Given the description of an element on the screen output the (x, y) to click on. 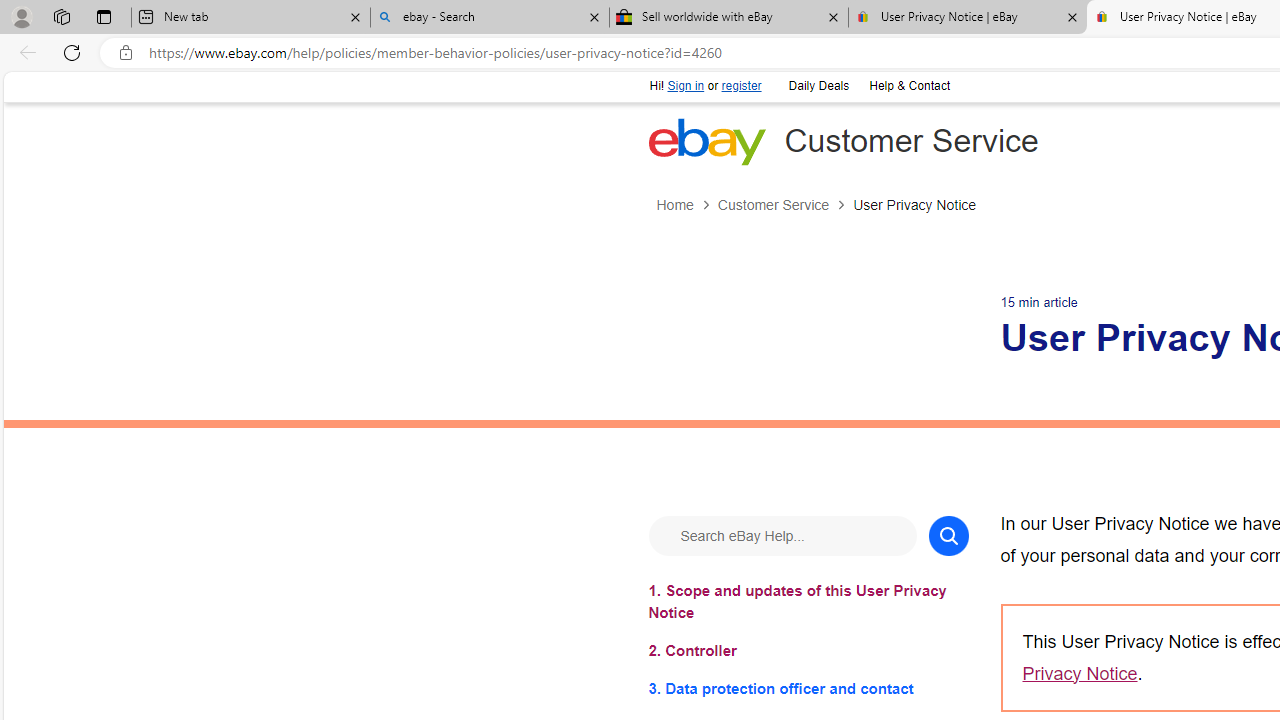
2. Controller (807, 650)
3. Data protection officer and contact (807, 687)
Customer Service (784, 205)
Daily Deals (817, 84)
1. Scope and updates of this User Privacy Notice (807, 601)
3. Data protection officer and contact (807, 687)
Sign in (685, 85)
Help & Contact (909, 86)
Search eBay Help... (781, 534)
Daily Deals (818, 86)
